Given the description of an element on the screen output the (x, y) to click on. 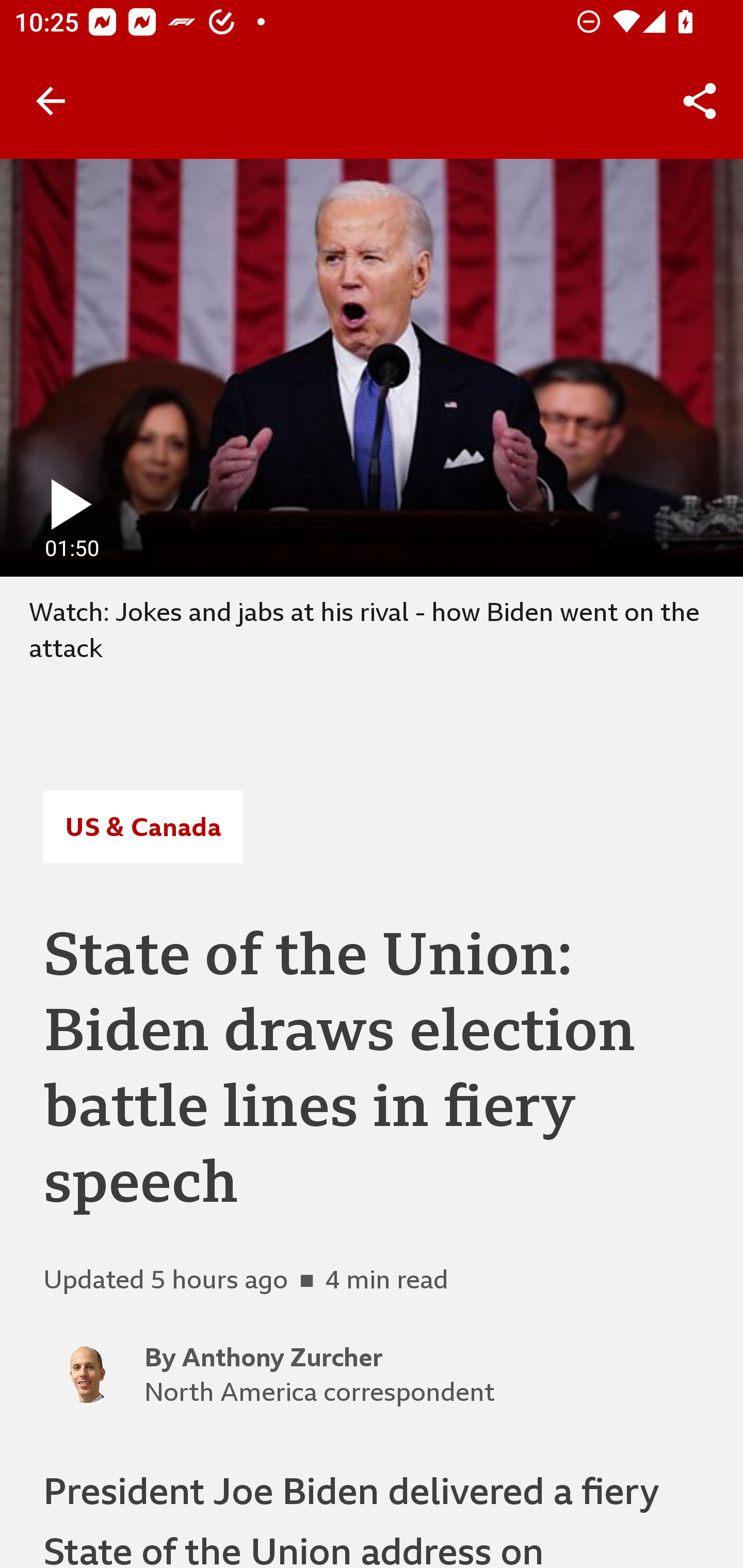
Back (50, 101)
Share (699, 101)
play fullscreen 01:50 1 minute, 50 seconds (371, 367)
US & Canada (142, 827)
